Given the description of an element on the screen output the (x, y) to click on. 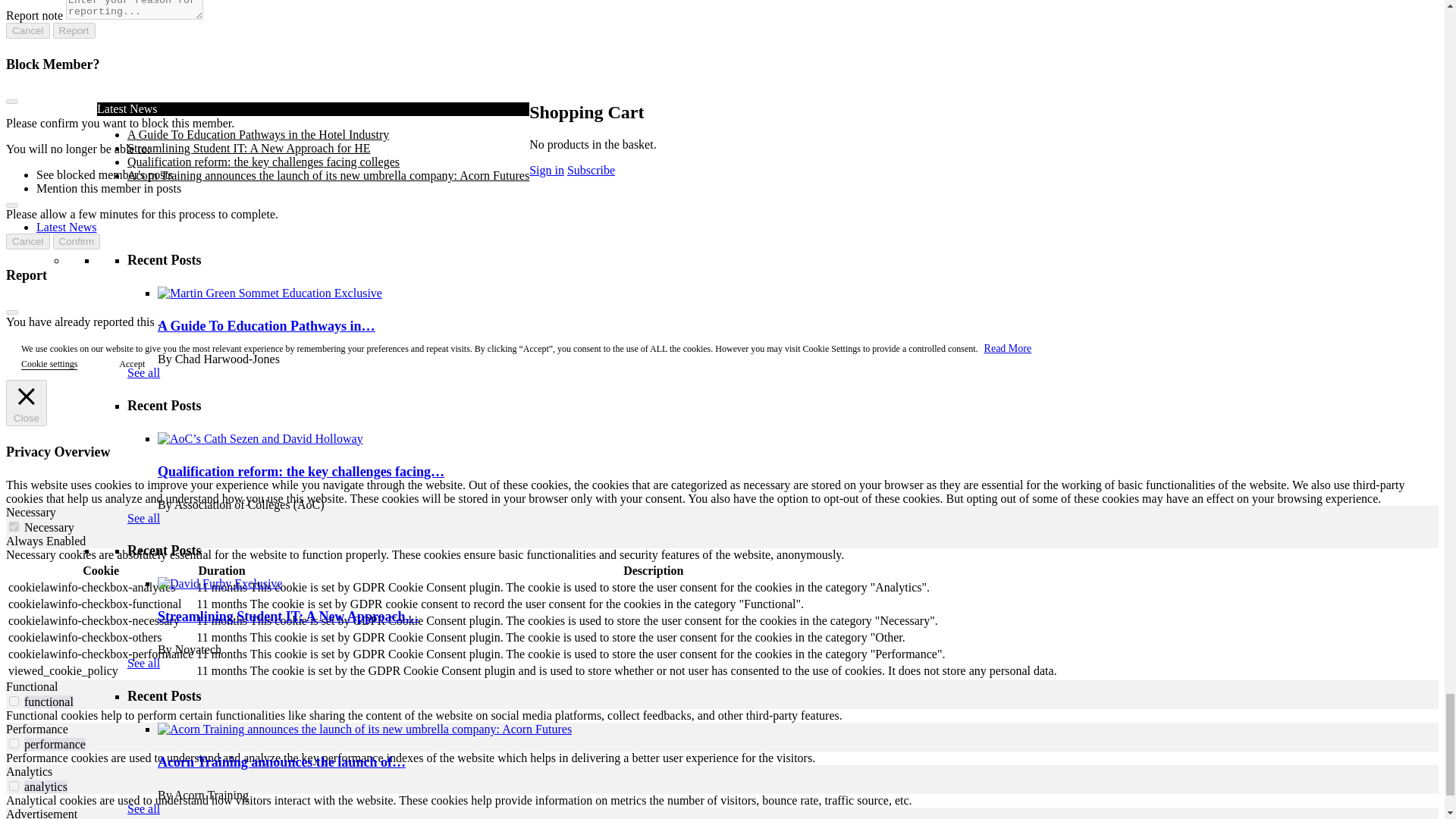
on (13, 743)
on (13, 526)
on (13, 786)
Cancel (27, 30)
on (13, 700)
Cancel (27, 241)
